Given the description of an element on the screen output the (x, y) to click on. 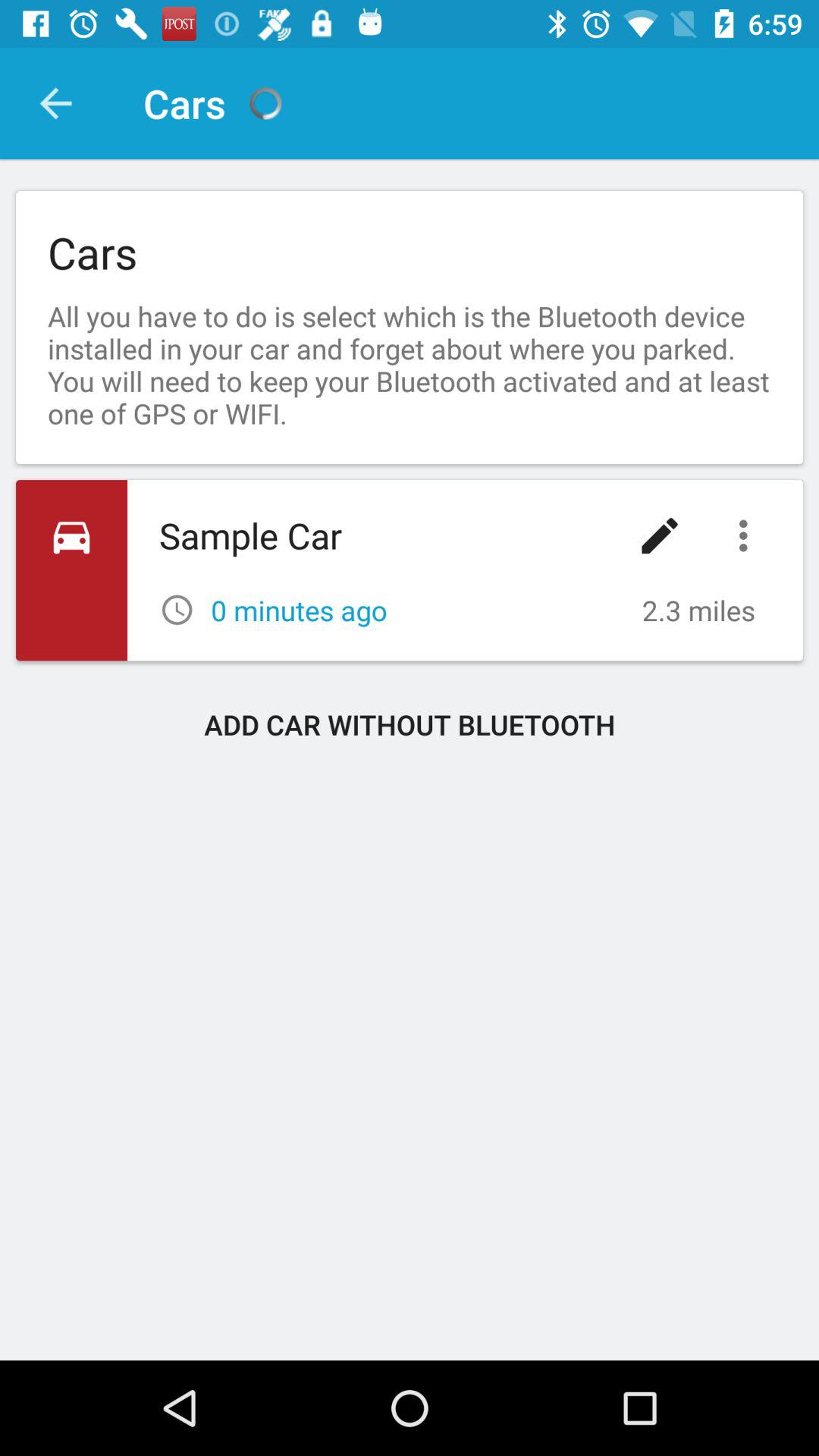
open the item above 2.3 miles item (747, 535)
